Given the description of an element on the screen output the (x, y) to click on. 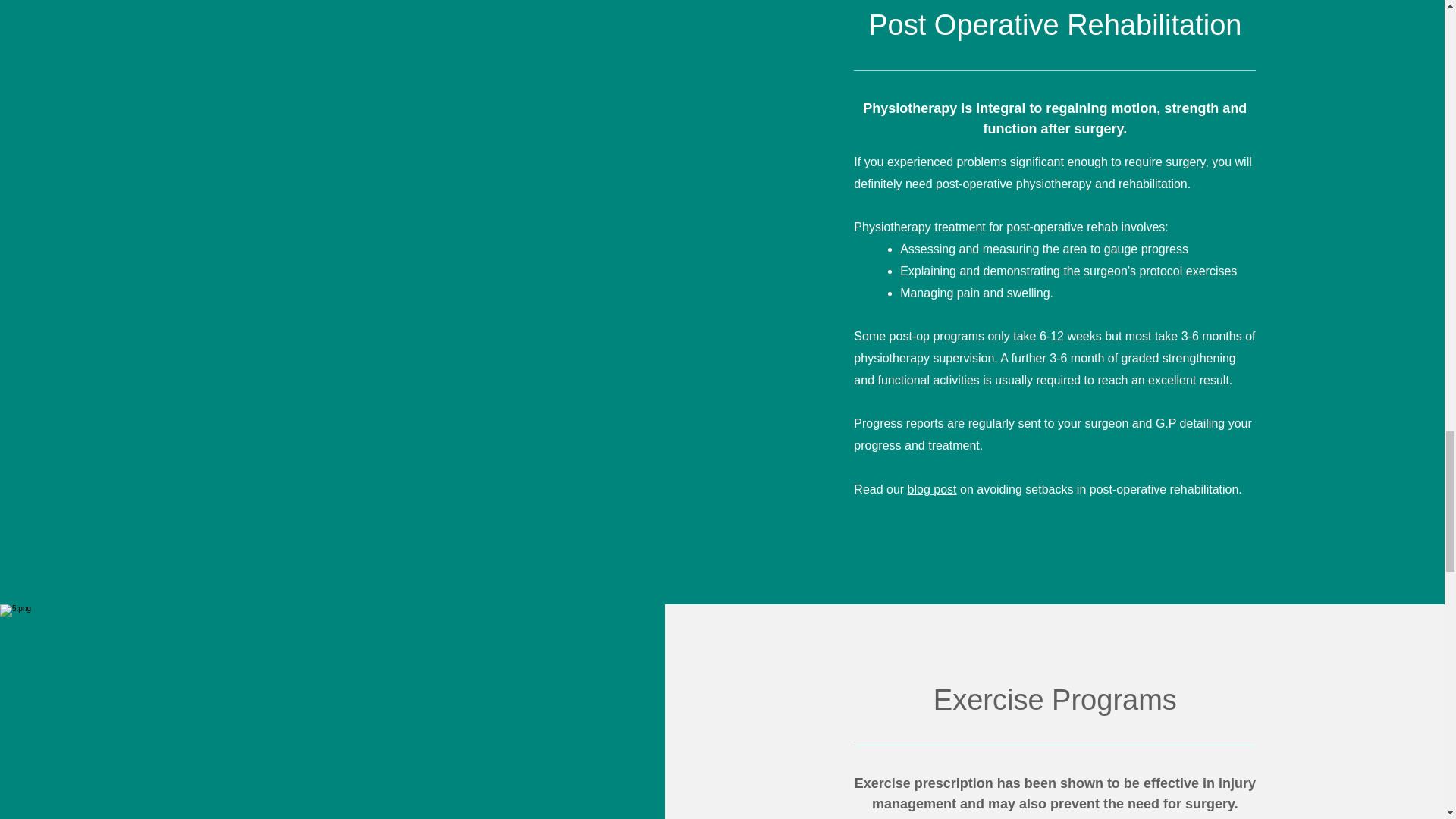
blog post (931, 489)
